Given the description of an element on the screen output the (x, y) to click on. 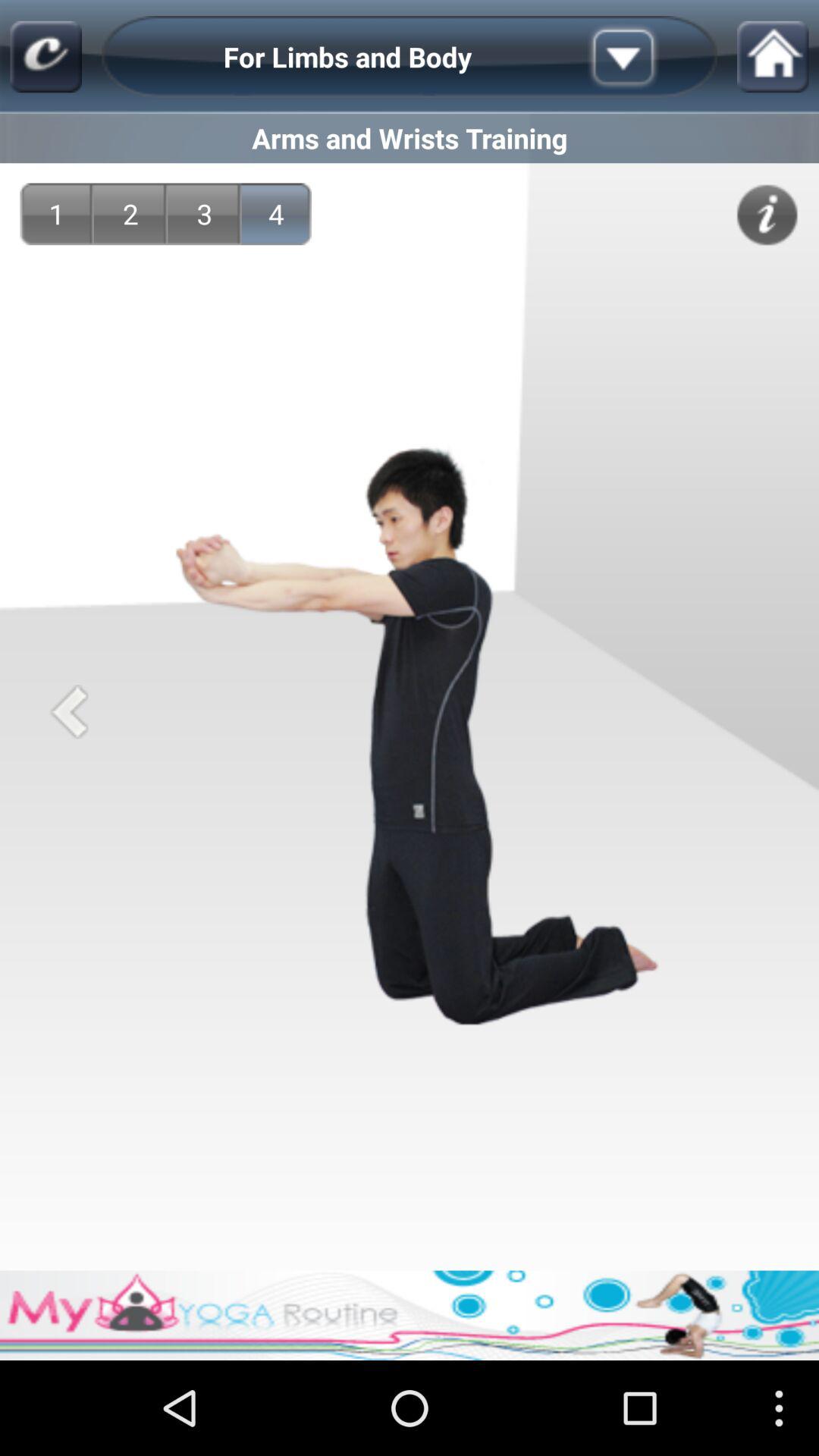
launch app next to for limbs and (646, 56)
